Given the description of an element on the screen output the (x, y) to click on. 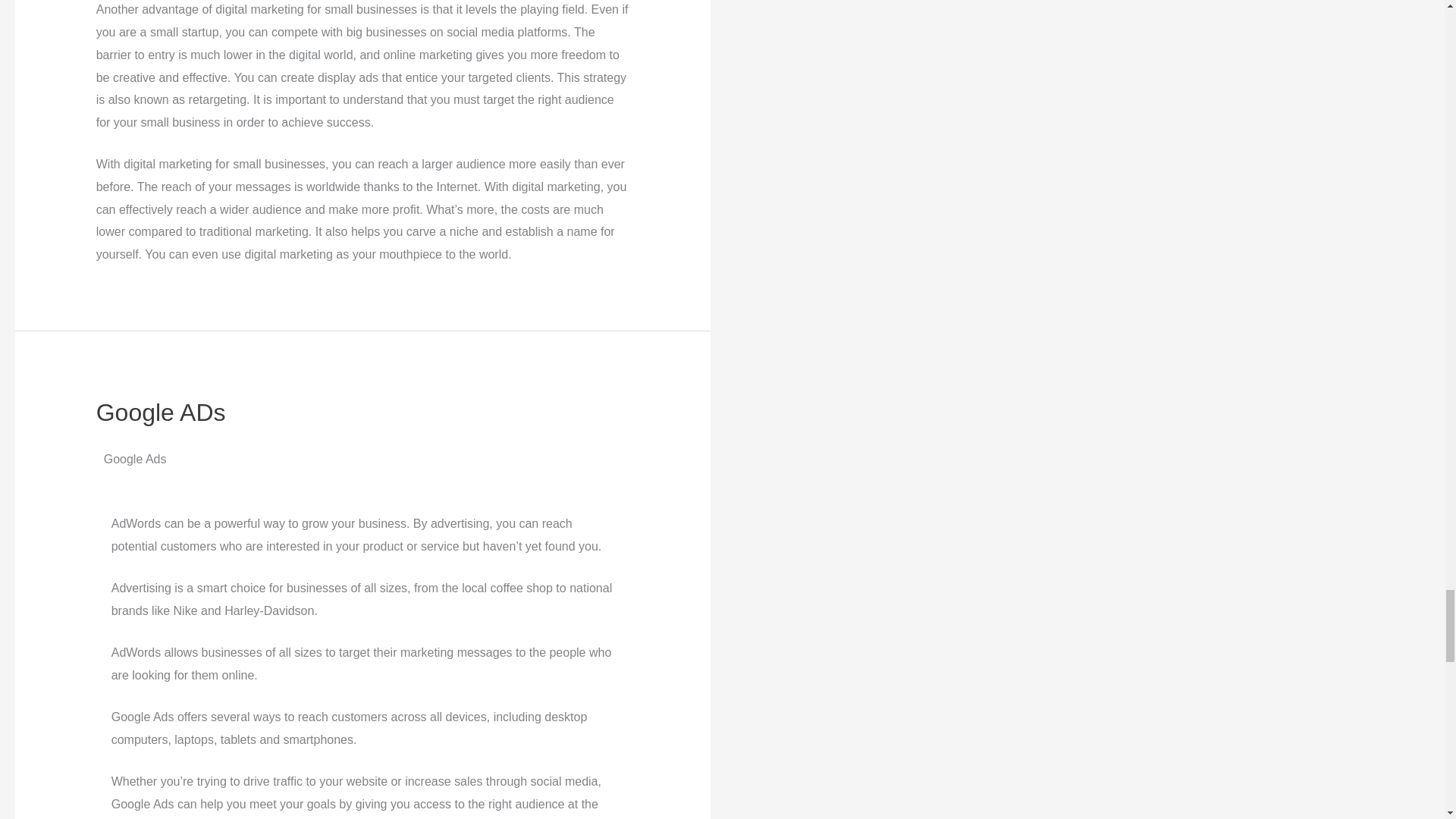
Google ADs (160, 411)
